Given the description of an element on the screen output the (x, y) to click on. 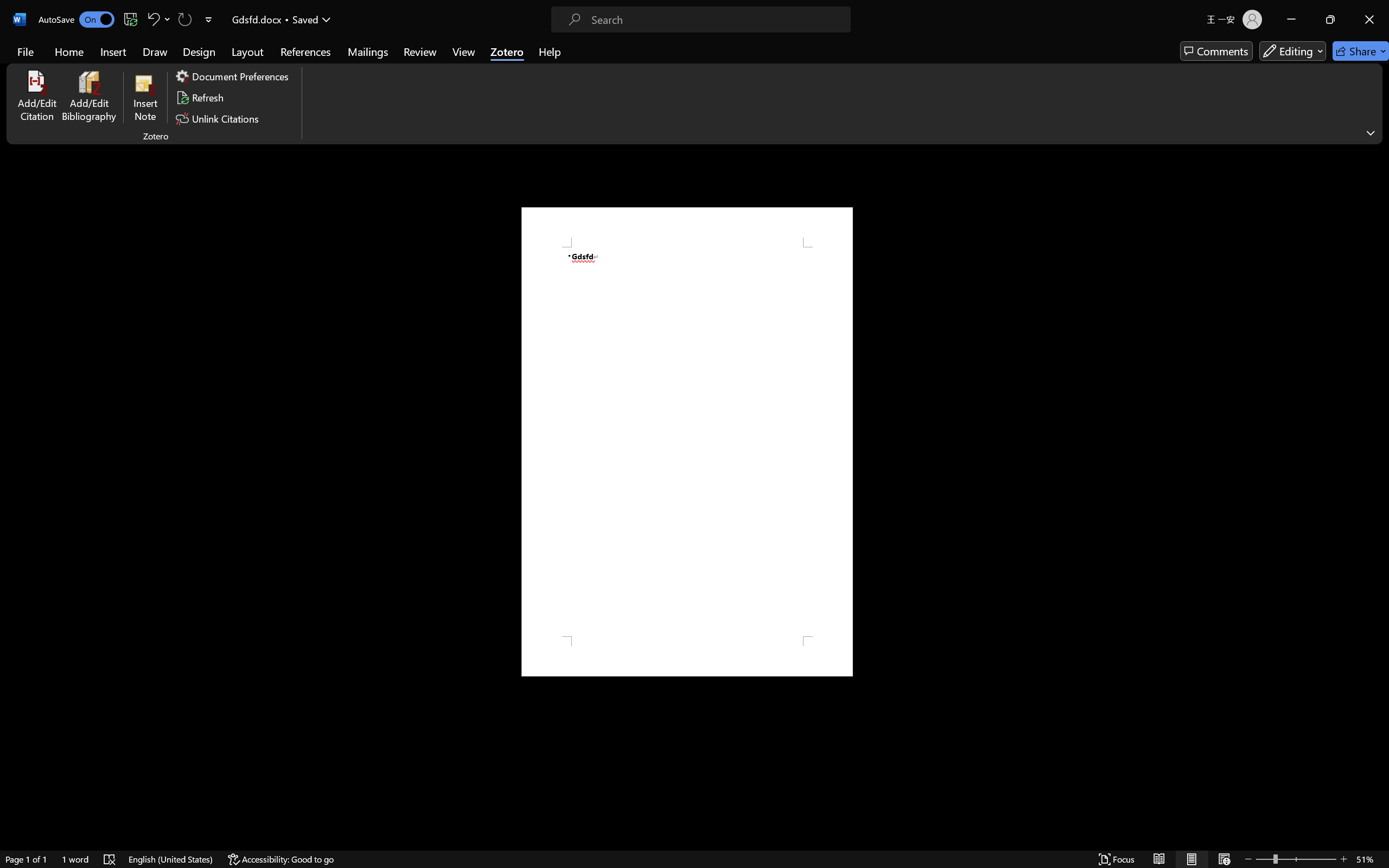
Multimedia clips (549, 227)
Info (38, 167)
Feedback (38, 797)
Properties (464, 100)
Protect Presentation (131, 117)
Back (38, 35)
Company (549, 324)
New (38, 85)
Verify Names (533, 478)
Hidden slides (549, 144)
Browse Address Book (567, 478)
